Given the description of an element on the screen output the (x, y) to click on. 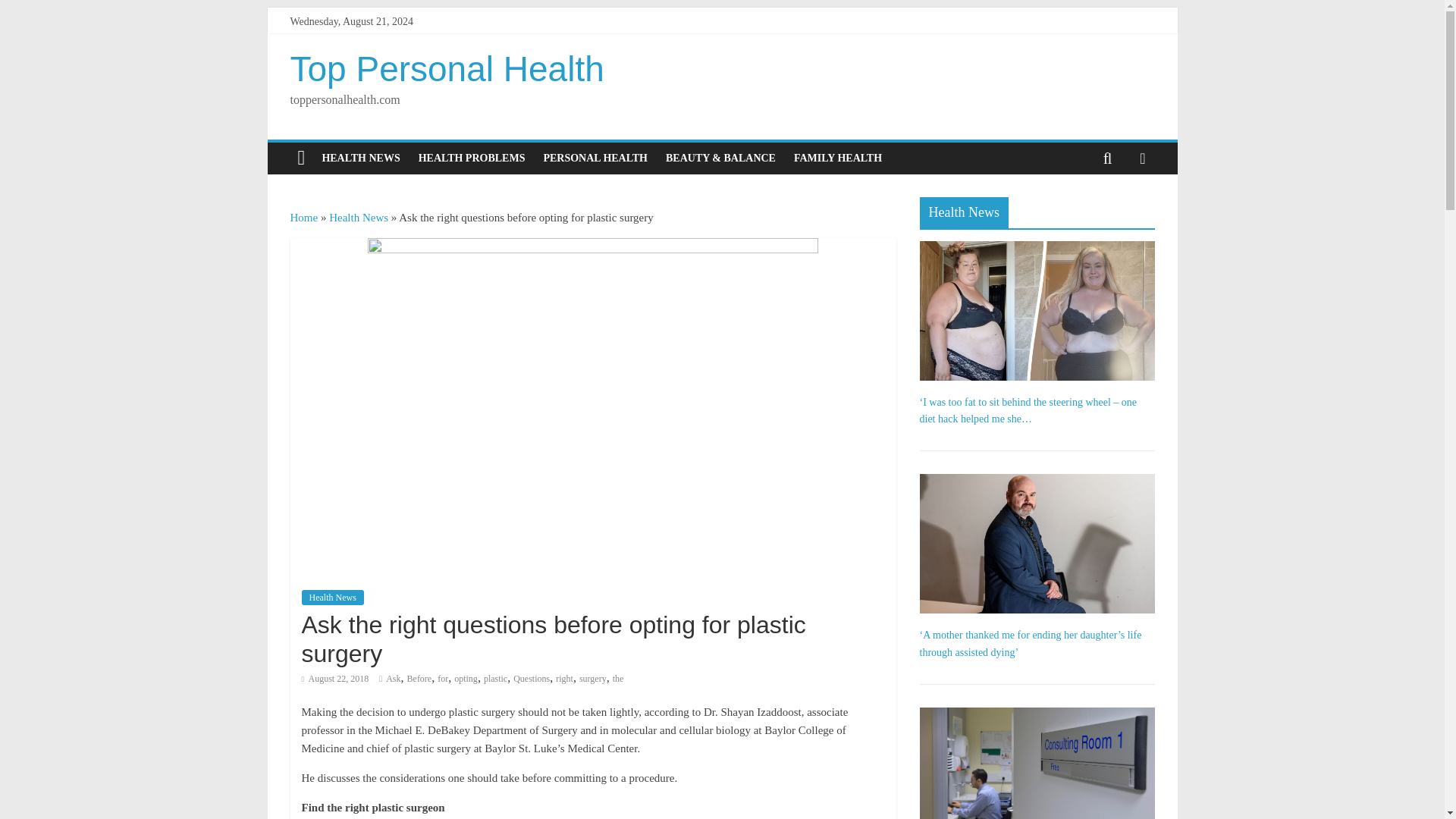
for (443, 678)
PERSONAL HEALTH (595, 158)
Health News (332, 597)
Questions (531, 678)
Health News (358, 217)
Top Personal Health (446, 68)
opting (465, 678)
surgery (593, 678)
3:07 pm (335, 678)
Before (419, 678)
